Given the description of an element on the screen output the (x, y) to click on. 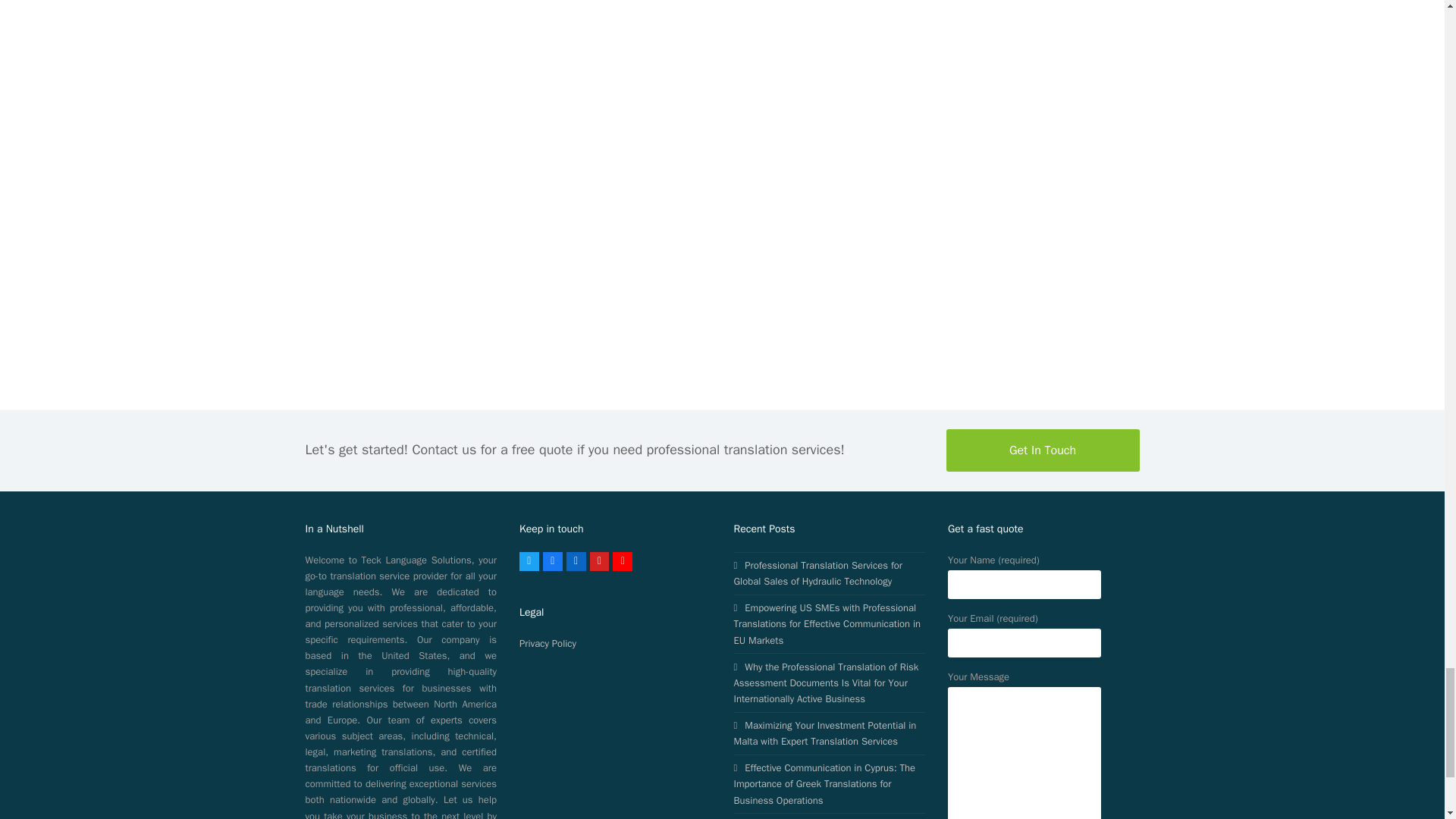
Yelp (599, 561)
Twitter (528, 561)
Facebook (552, 561)
LinkedIn (576, 561)
